Given the description of an element on the screen output the (x, y) to click on. 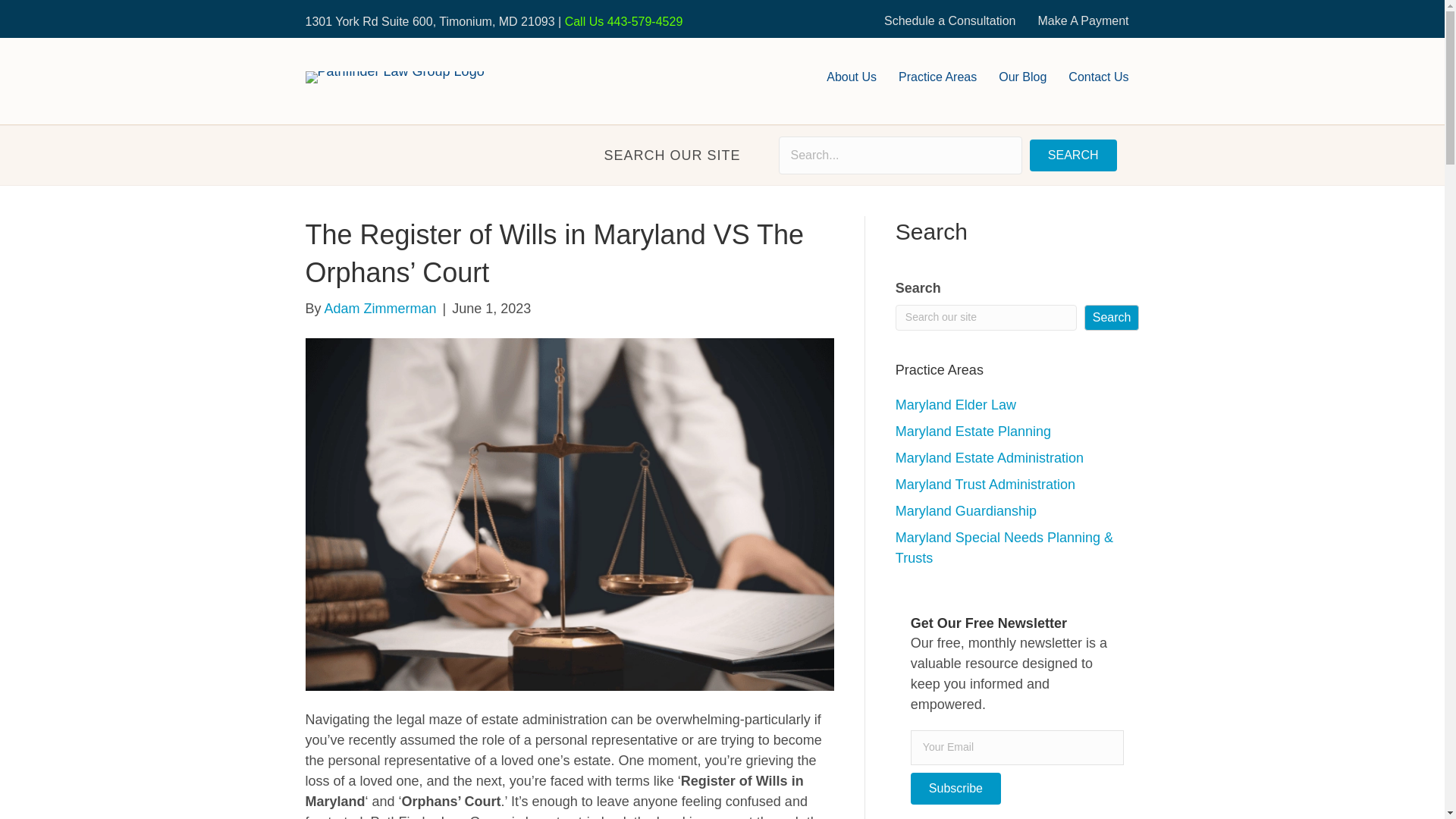
Contact Us (1098, 77)
Our Blog (1022, 77)
About Us (850, 77)
Make A Payment (1082, 20)
Call Us 443-579-4529 (623, 21)
Schedule a Consultation (949, 20)
Click Here (1072, 155)
Adam Zimmerman (380, 308)
Practice Areas (937, 77)
click to call (623, 21)
